Given the description of an element on the screen output the (x, y) to click on. 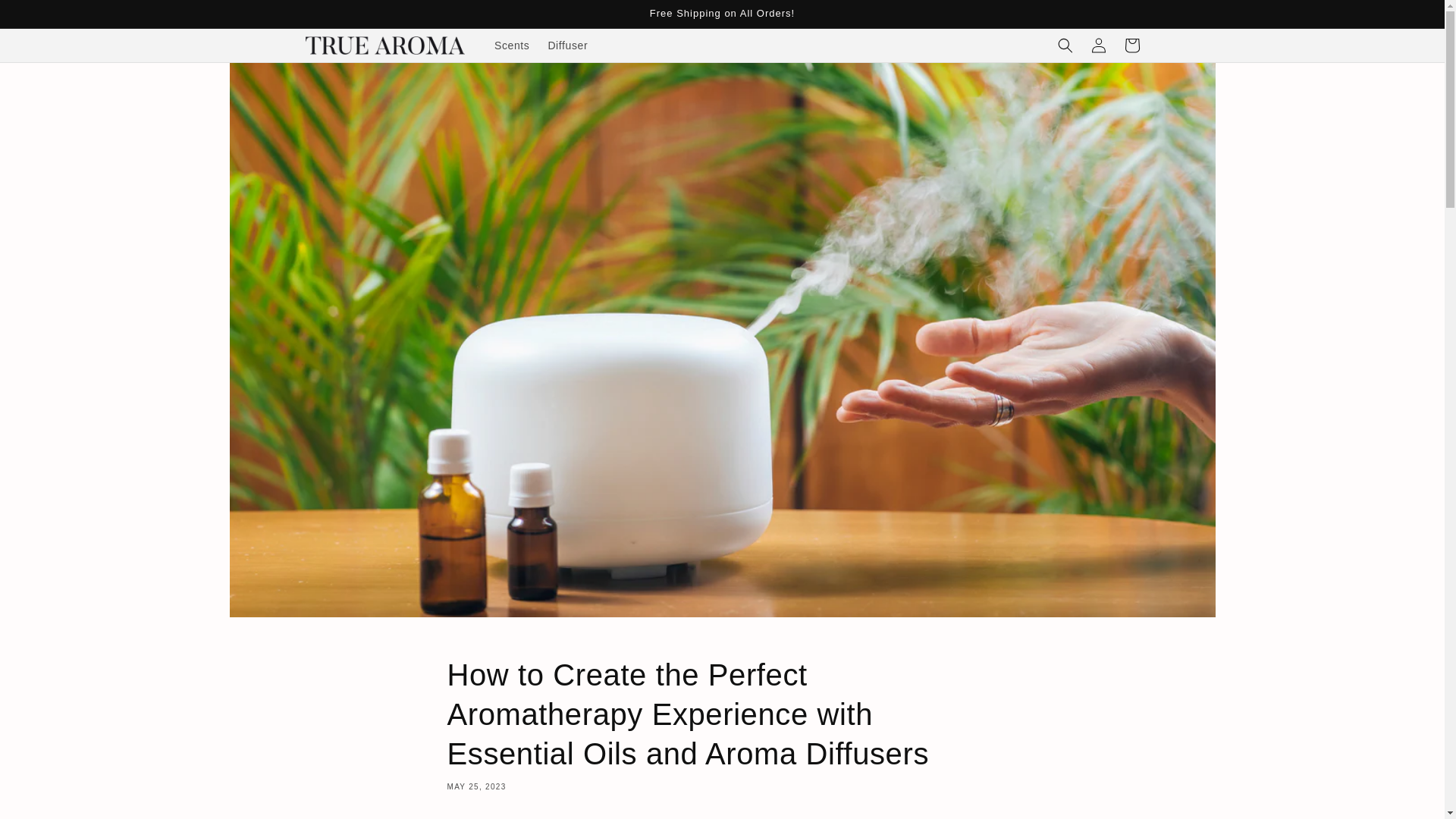
Scents (511, 45)
Log in (1098, 45)
Diffuser (567, 45)
Cart (1131, 45)
Skip to content (45, 17)
